Given the description of an element on the screen output the (x, y) to click on. 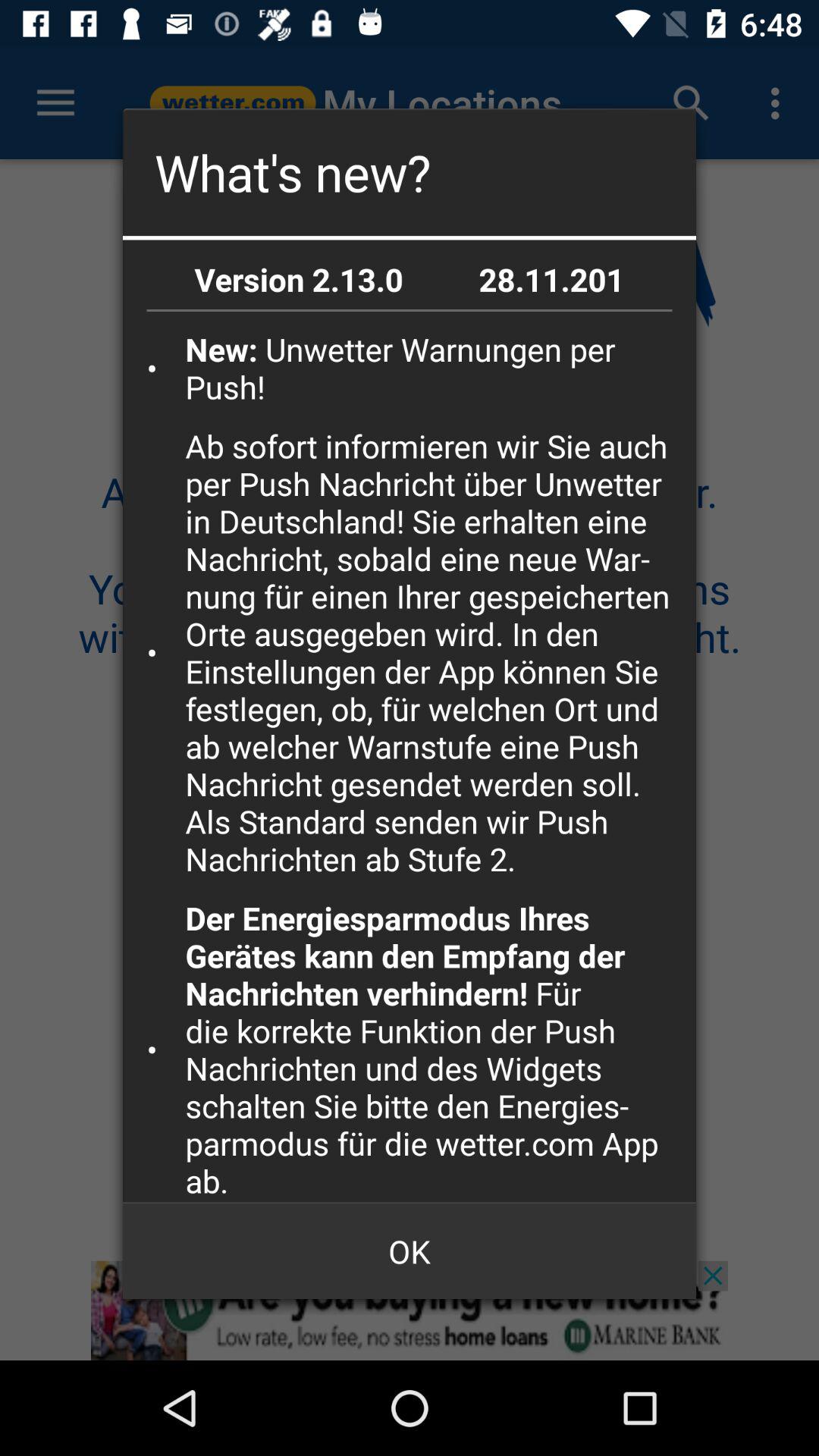
flip to the new unwetter warnungen item (435, 367)
